Given the description of an element on the screen output the (x, y) to click on. 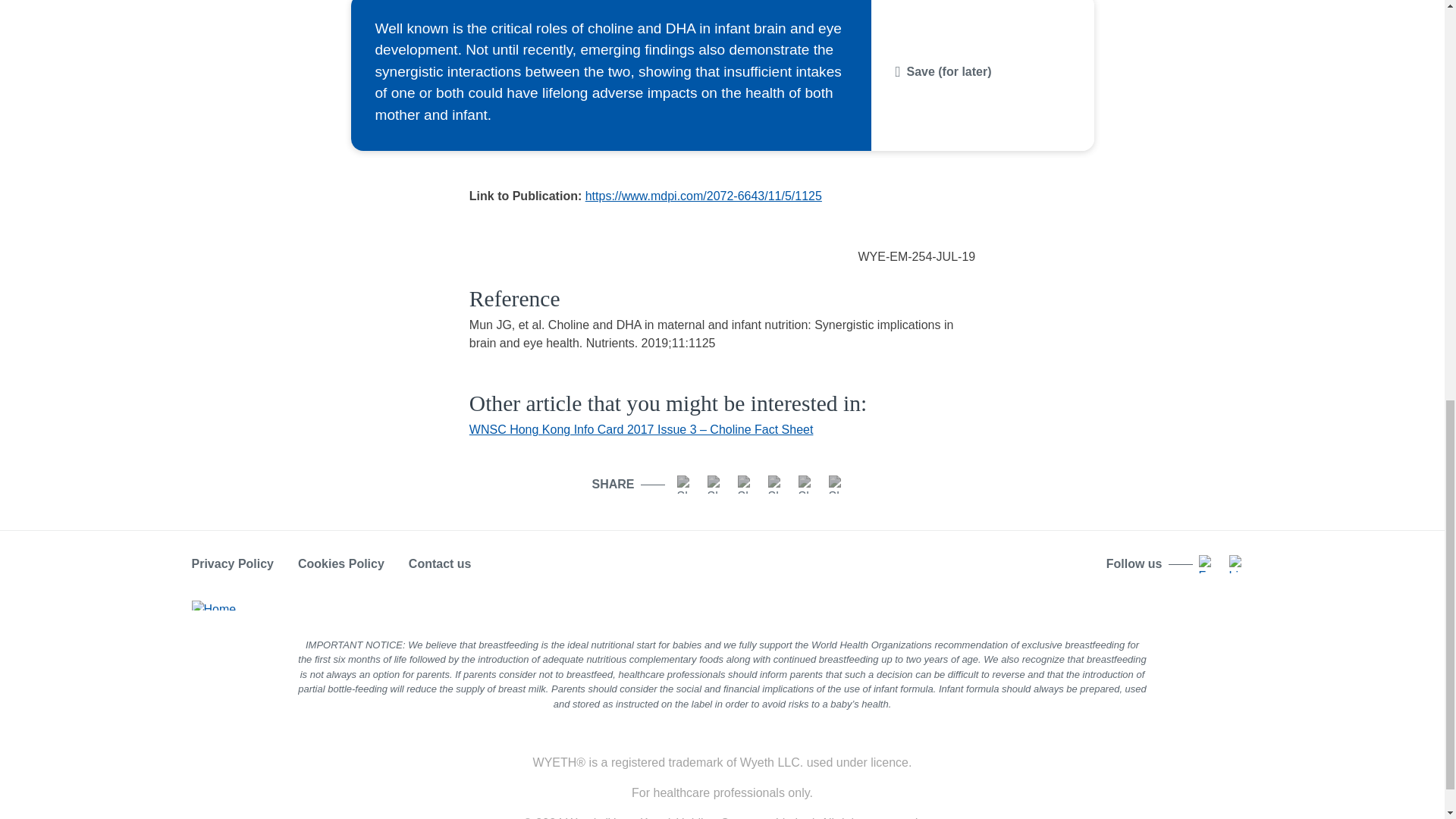
Linkedin (715, 484)
Pin it (836, 484)
Tumblr (806, 484)
Facebook (685, 484)
Email (776, 484)
Facebook (1206, 564)
Linkedin (1237, 564)
Home (212, 604)
Twitter (745, 484)
